Given the description of an element on the screen output the (x, y) to click on. 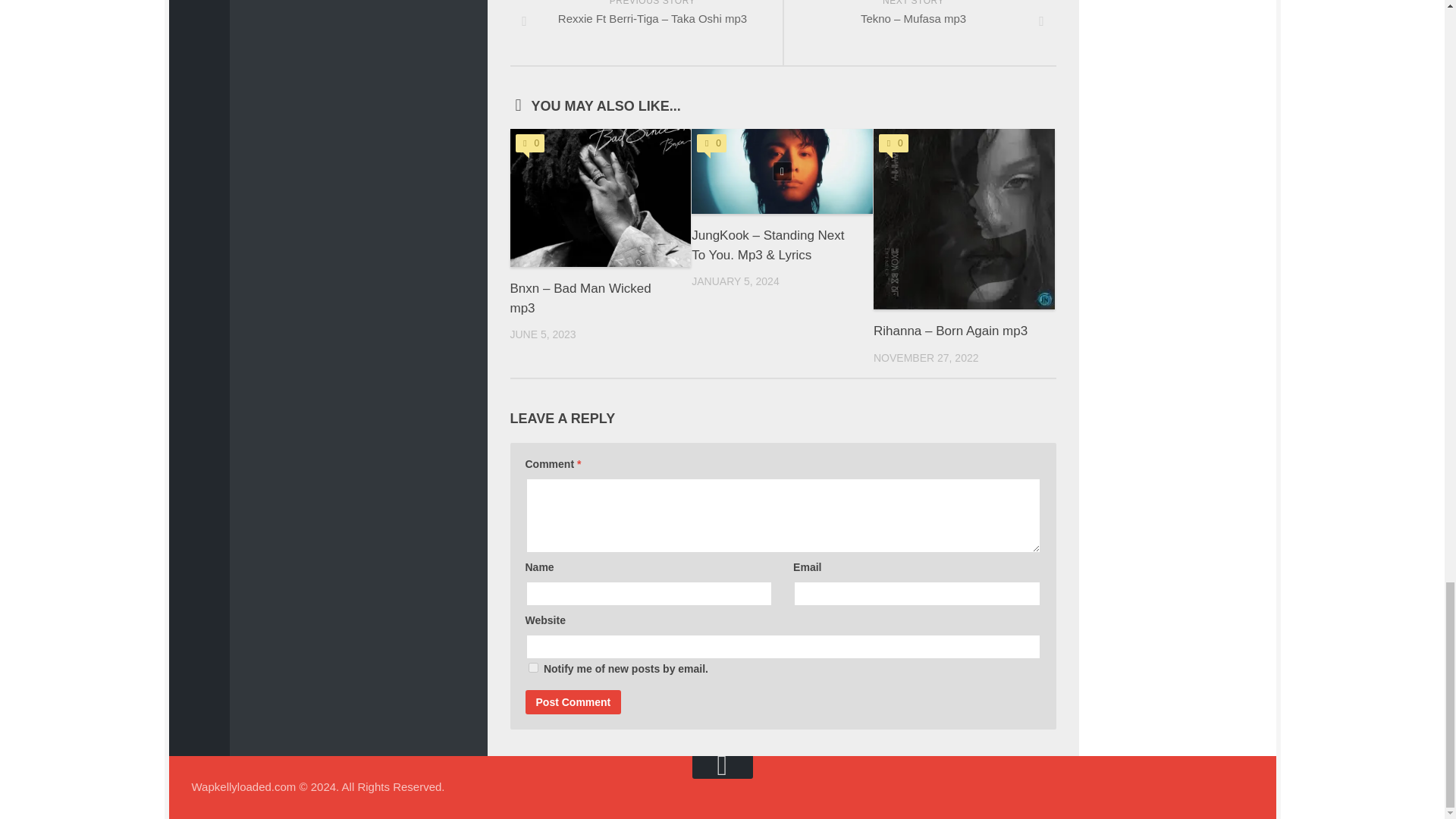
Post Comment (572, 702)
subscribe (532, 667)
